Given the description of an element on the screen output the (x, y) to click on. 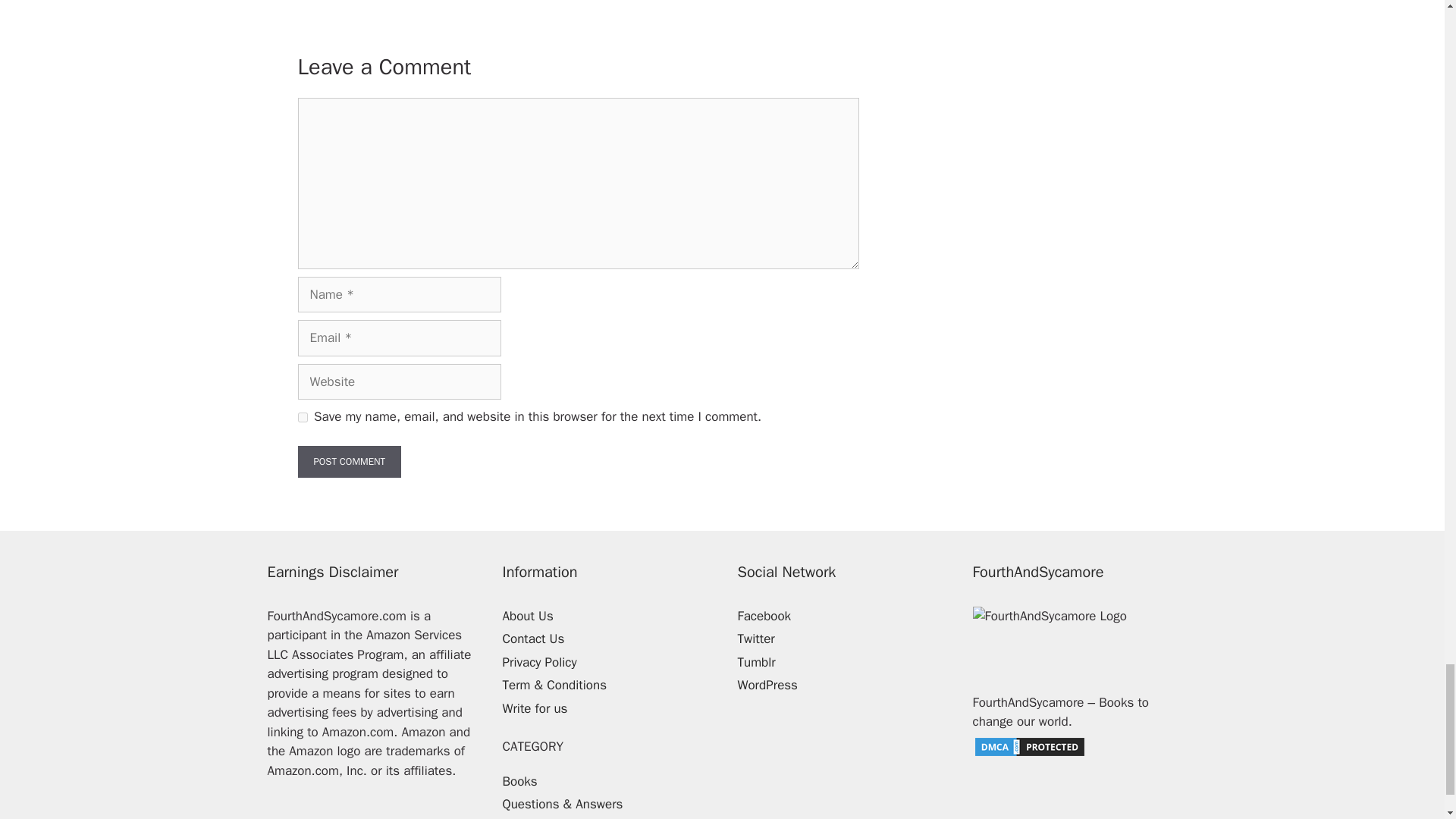
yes (302, 417)
DMCA.com Protection Status (1029, 754)
Post Comment (349, 461)
